Given the description of an element on the screen output the (x, y) to click on. 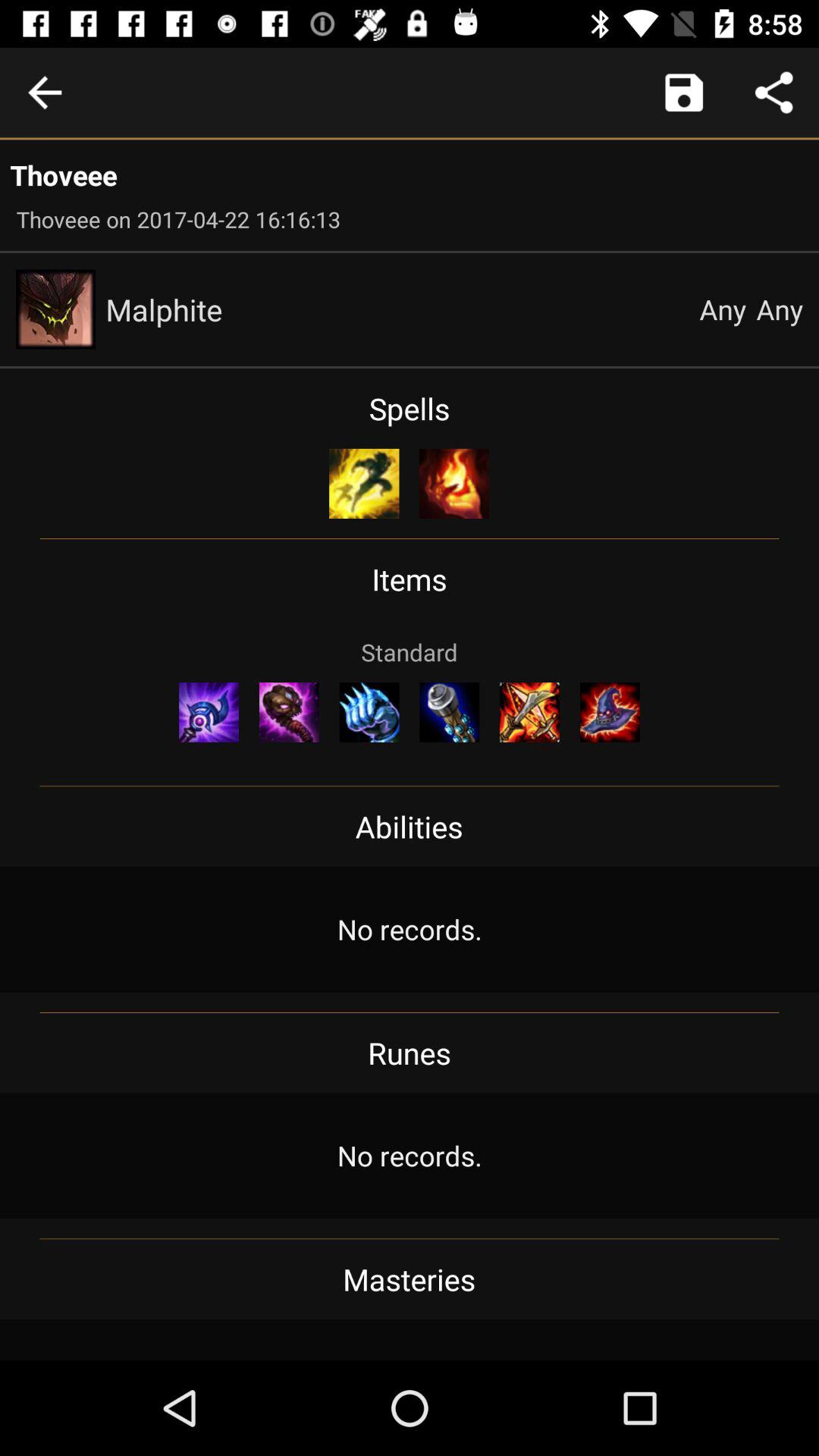
share data (774, 92)
